Given the description of an element on the screen output the (x, y) to click on. 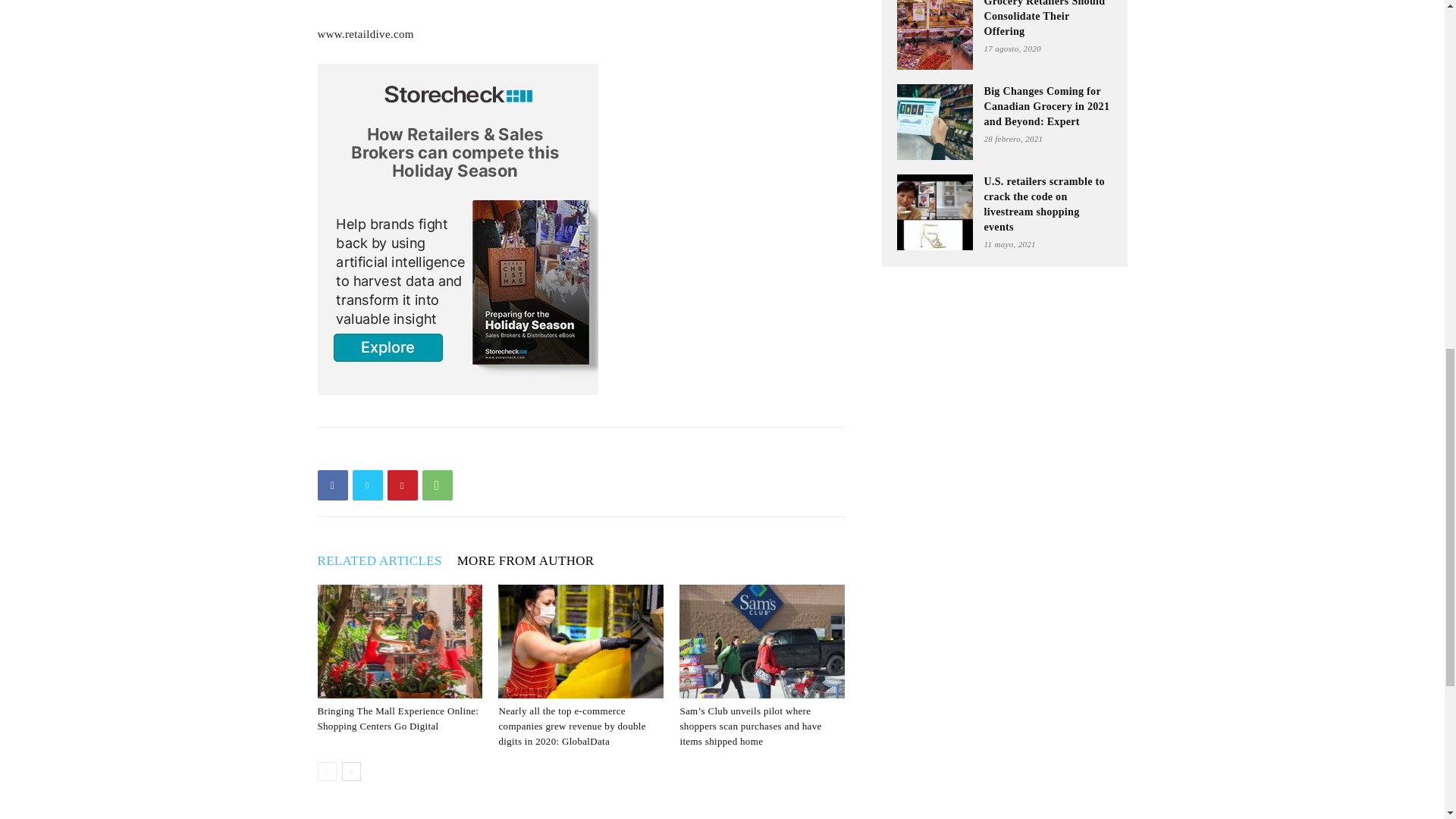
Read more (342, 0)
MORE FROM AUTHOR (533, 560)
RELATED ARTICLES (387, 560)
